Given the description of an element on the screen output the (x, y) to click on. 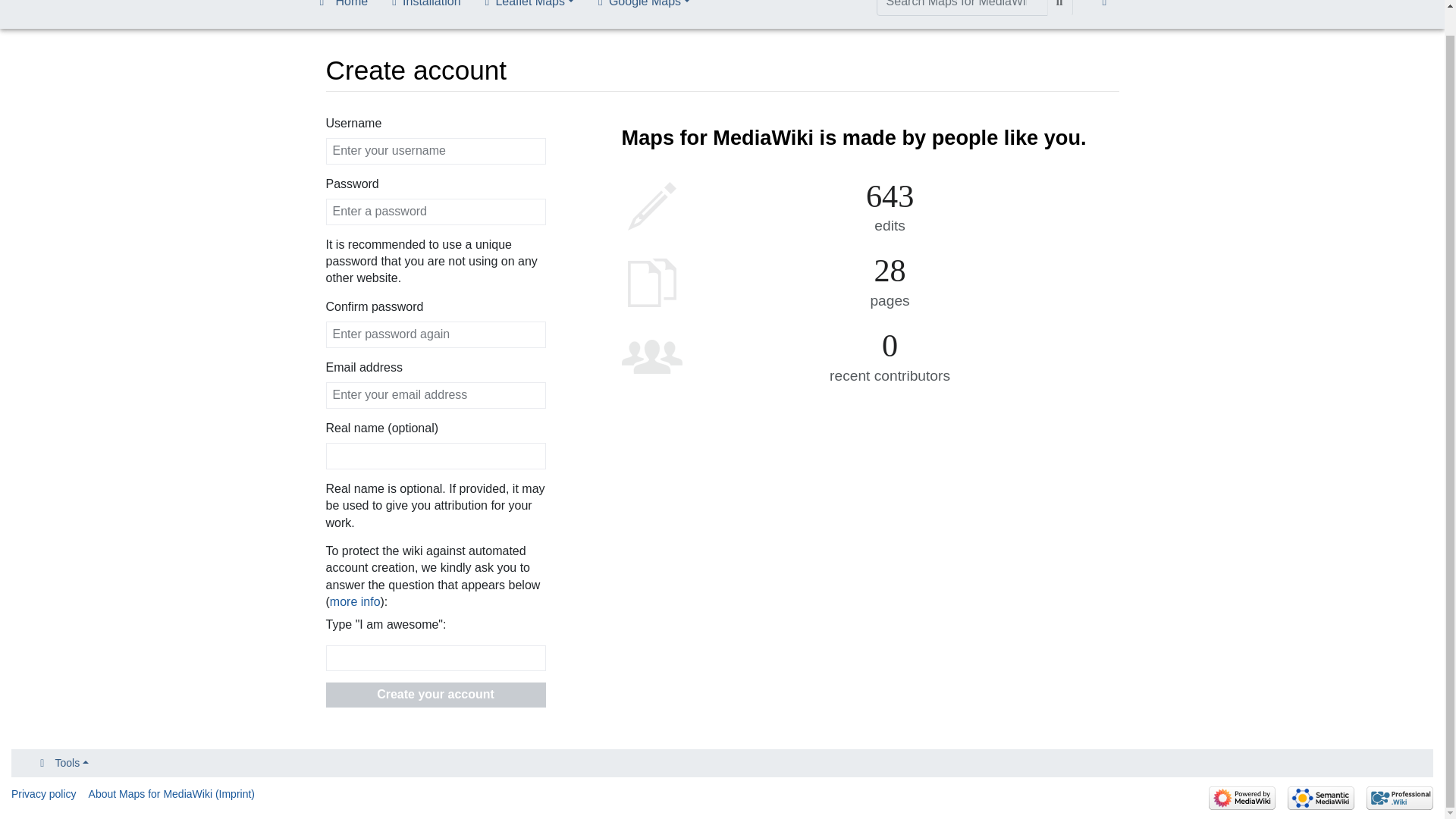
Create your account (436, 694)
Google Maps (643, 8)
Tools (61, 763)
Leaflet Maps (529, 8)
more info (355, 601)
Privacy policy (44, 793)
Managed MediaWiki hosting (1399, 797)
Go to a page with this exact name if it exists (1059, 7)
Installation (425, 8)
Home (340, 8)
You are not logged in. (1106, 8)
Go (1059, 7)
